Given the description of an element on the screen output the (x, y) to click on. 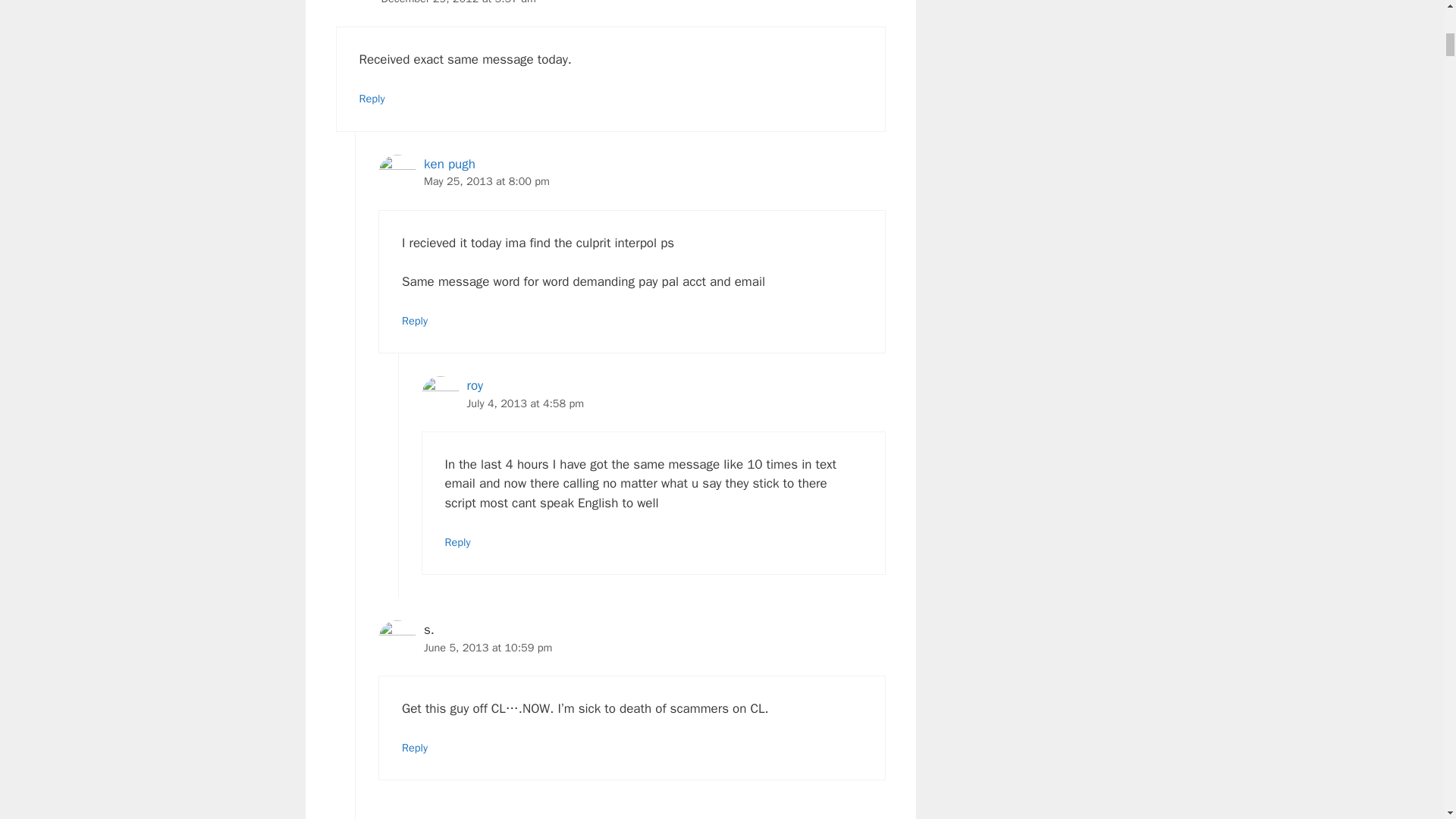
Reply (414, 320)
Reply (414, 747)
roy (475, 385)
December 29, 2012 at 5:57 am (457, 2)
Reply (372, 98)
May 25, 2013 at 8:00 pm (486, 181)
June 5, 2013 at 10:59 pm (487, 647)
Reply (457, 541)
July 4, 2013 at 4:58 pm (526, 402)
ken pugh (449, 163)
